Given the description of an element on the screen output the (x, y) to click on. 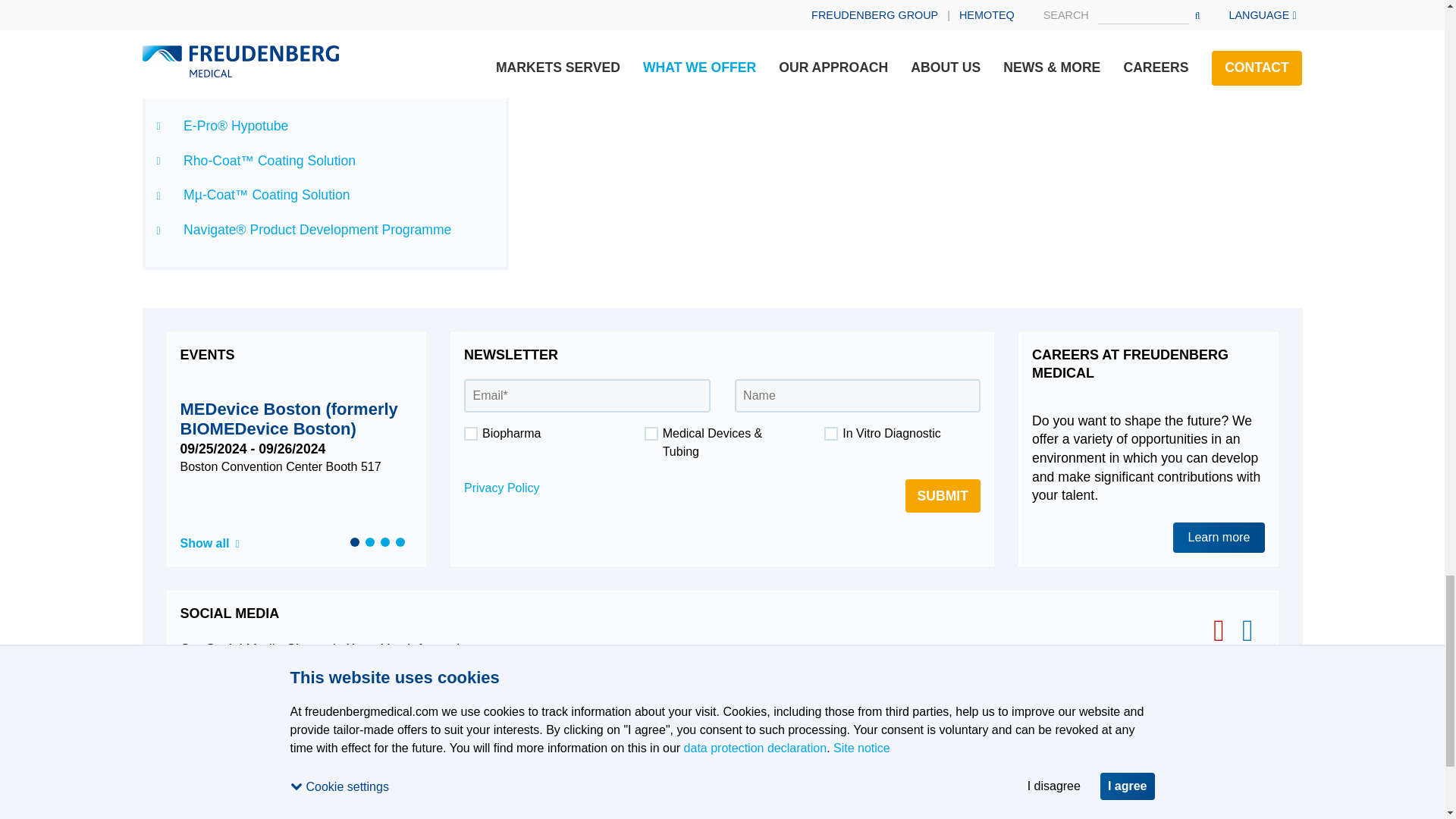
Submit (942, 495)
